Given the description of an element on the screen output the (x, y) to click on. 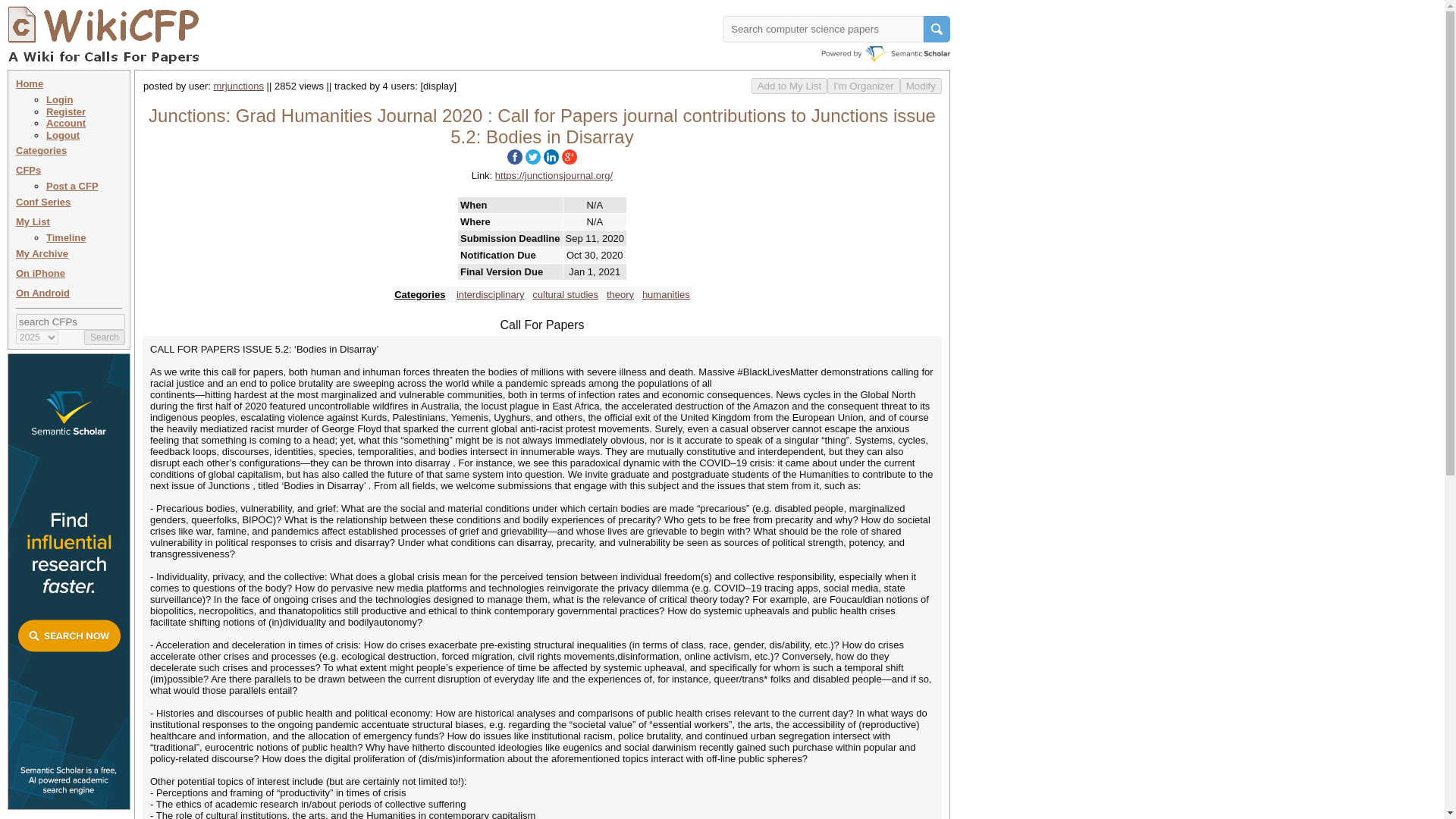
Login (59, 99)
Search (104, 337)
Categories (41, 150)
I'm Organizer (863, 85)
My List (32, 221)
Modify (920, 85)
theory (620, 294)
Add to My List (789, 85)
I'm Organizer (863, 85)
Search (104, 337)
